Given the description of an element on the screen output the (x, y) to click on. 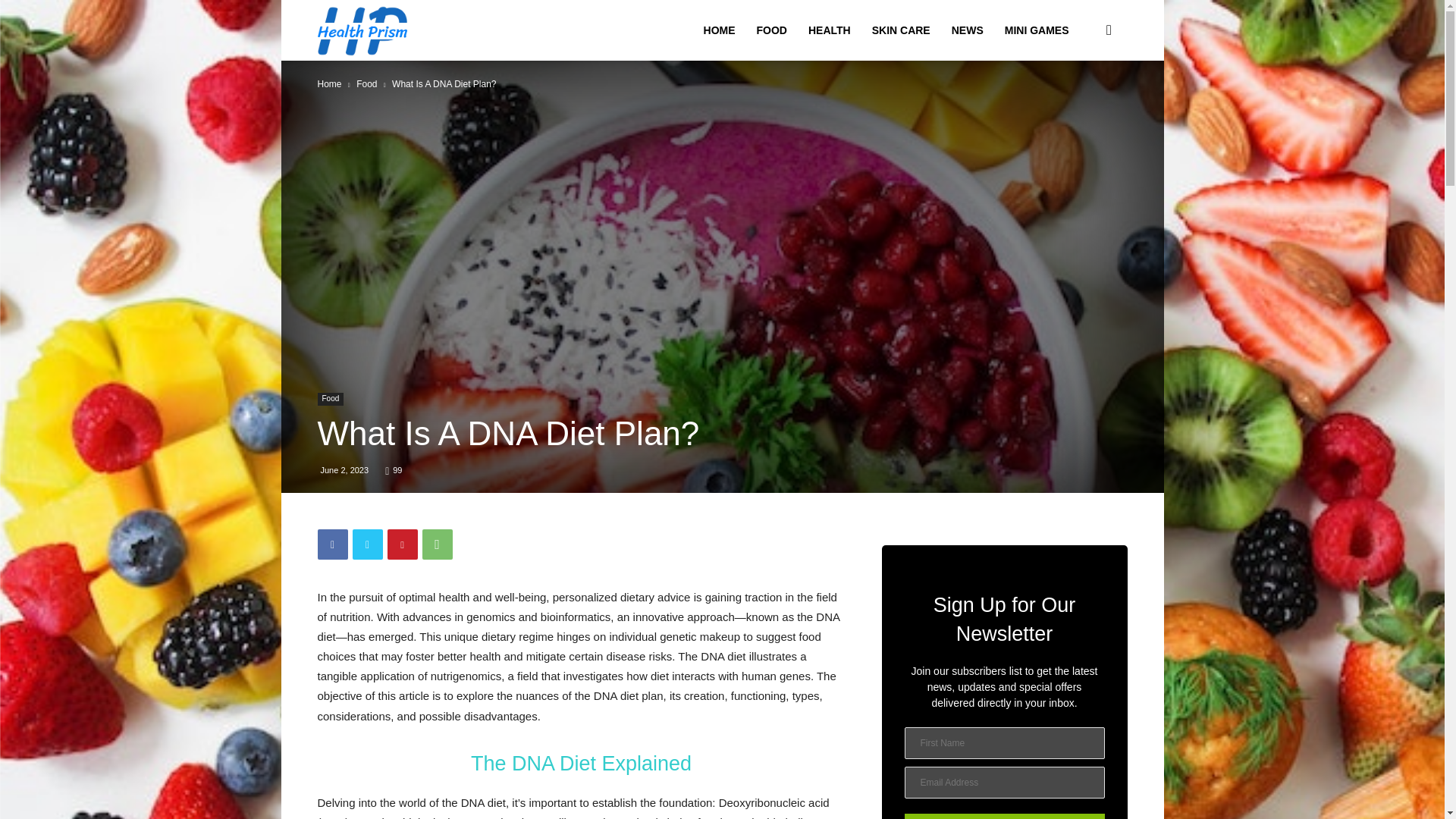
Food (330, 399)
SKIN CARE (900, 30)
HEALTH (829, 30)
Health Prism (362, 30)
Facebook (332, 544)
Home (328, 83)
Subscribe (1003, 816)
Twitter (366, 544)
Search (1085, 102)
MINI GAMES (1037, 30)
Pinterest (401, 544)
View all posts in Food (366, 83)
WhatsApp (436, 544)
Food (366, 83)
